Given the description of an element on the screen output the (x, y) to click on. 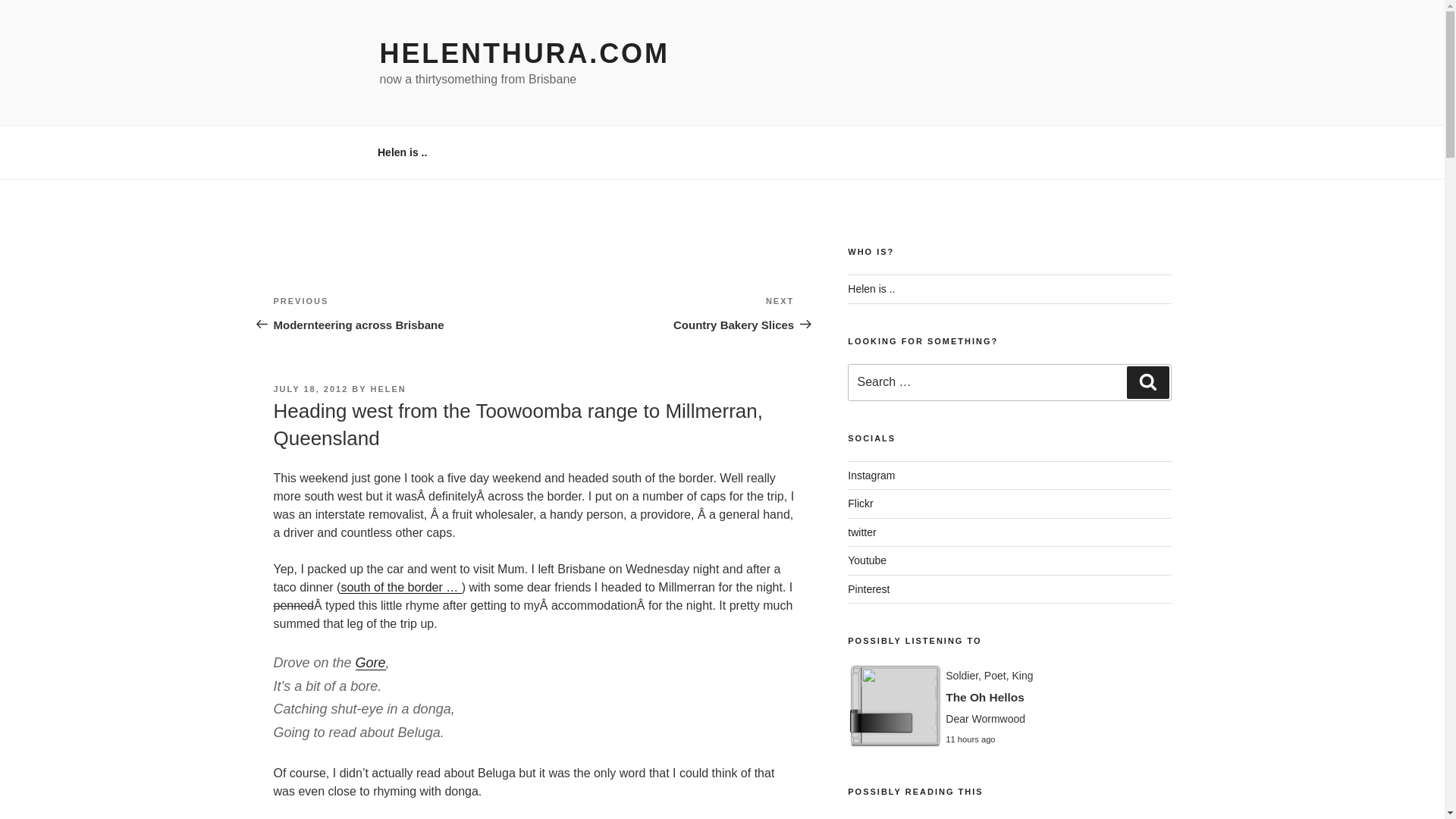
JULY 18, 2012 (310, 388)
HELEN (387, 388)
Helen is .. (871, 288)
Gore (370, 662)
Flickr (402, 312)
Youtube (859, 503)
twitter (866, 560)
HELENTHURA.COM (861, 532)
Instagram (663, 312)
Helen is .. (523, 52)
Skip to content (871, 475)
Search (401, 151)
